Given the description of an element on the screen output the (x, y) to click on. 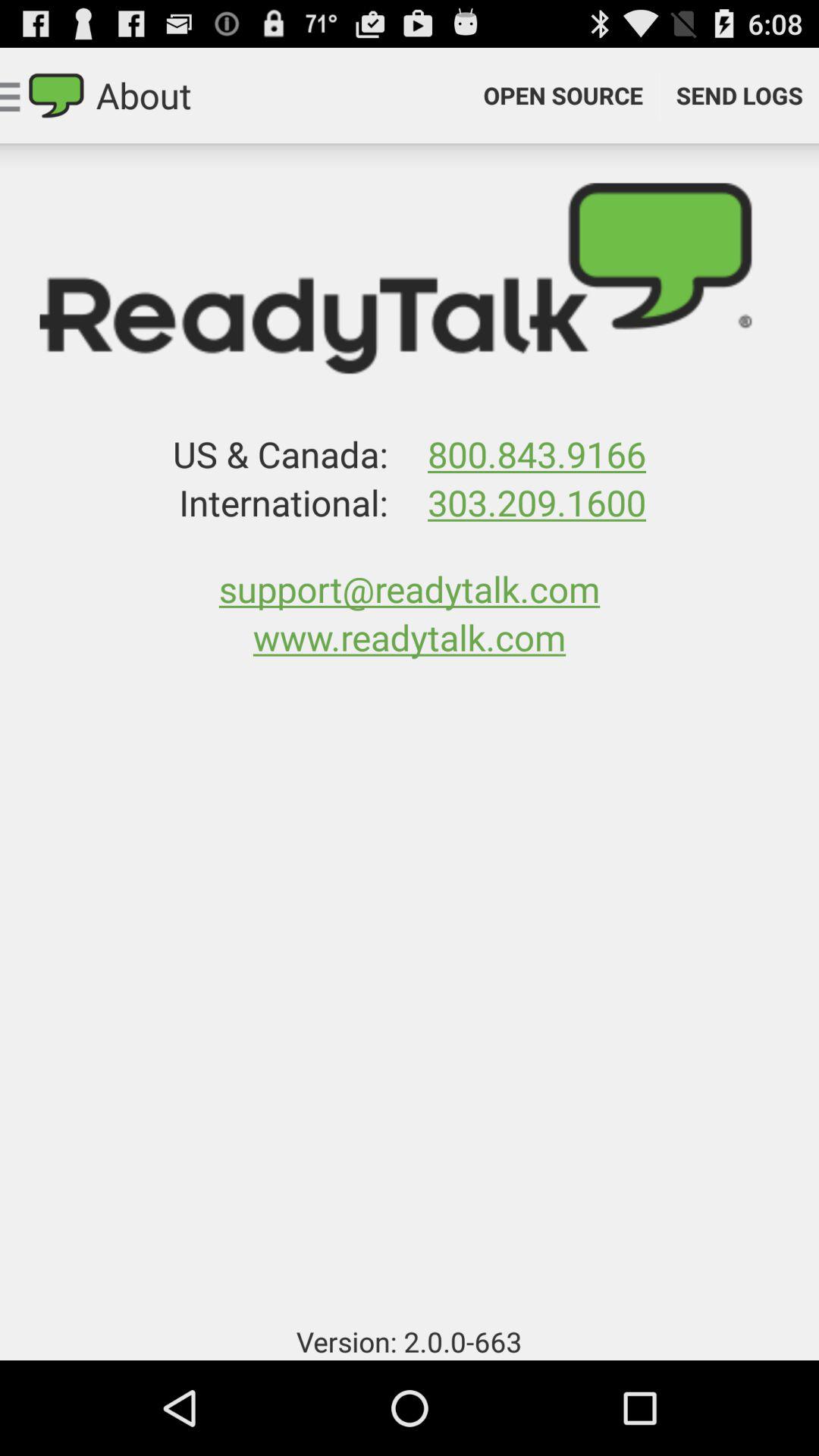
scroll until send logs item (739, 95)
